Given the description of an element on the screen output the (x, y) to click on. 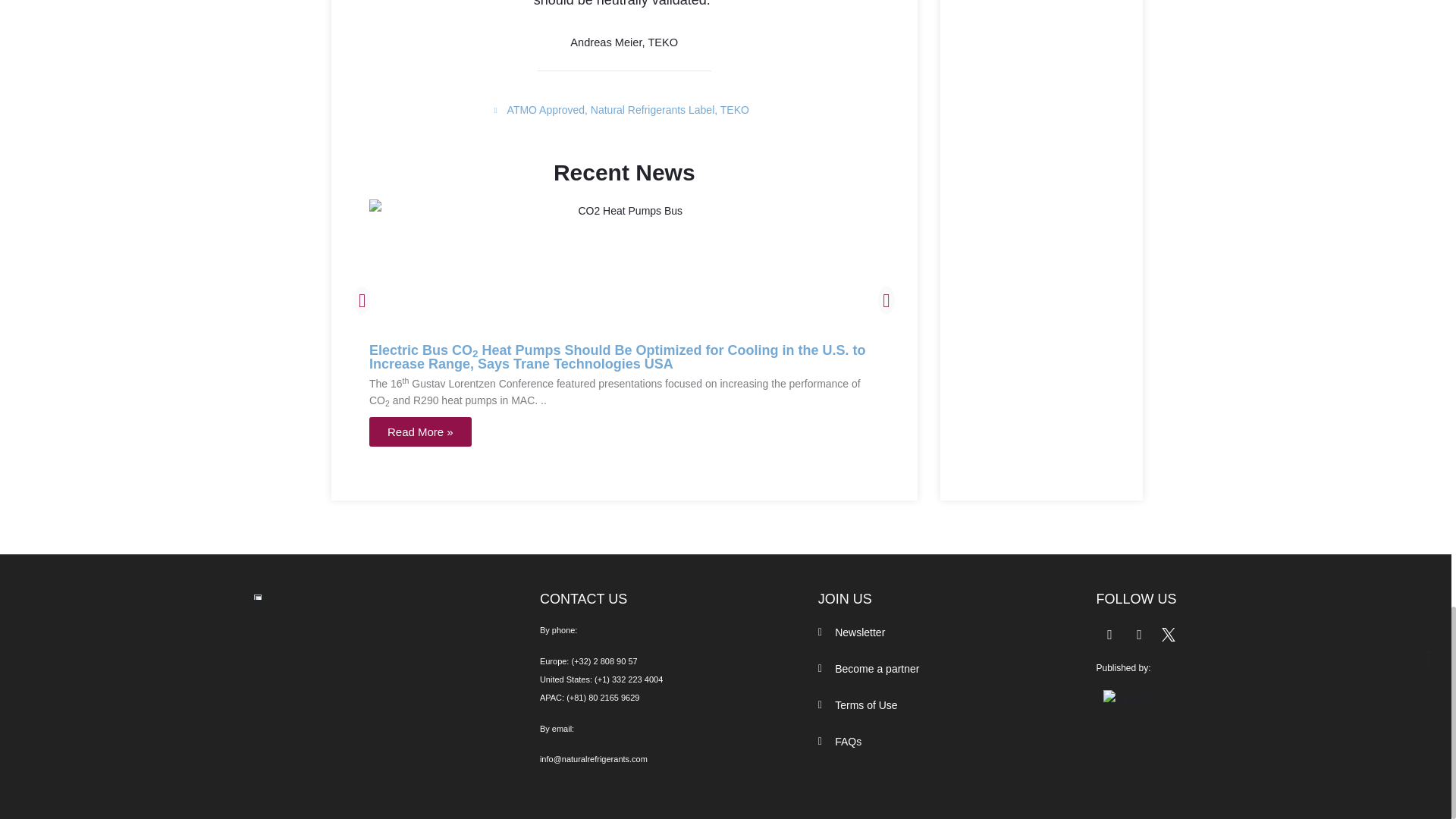
TEKO (734, 110)
Natural Refrigerants Label (652, 110)
ATMO Approved (545, 110)
